Given the description of an element on the screen output the (x, y) to click on. 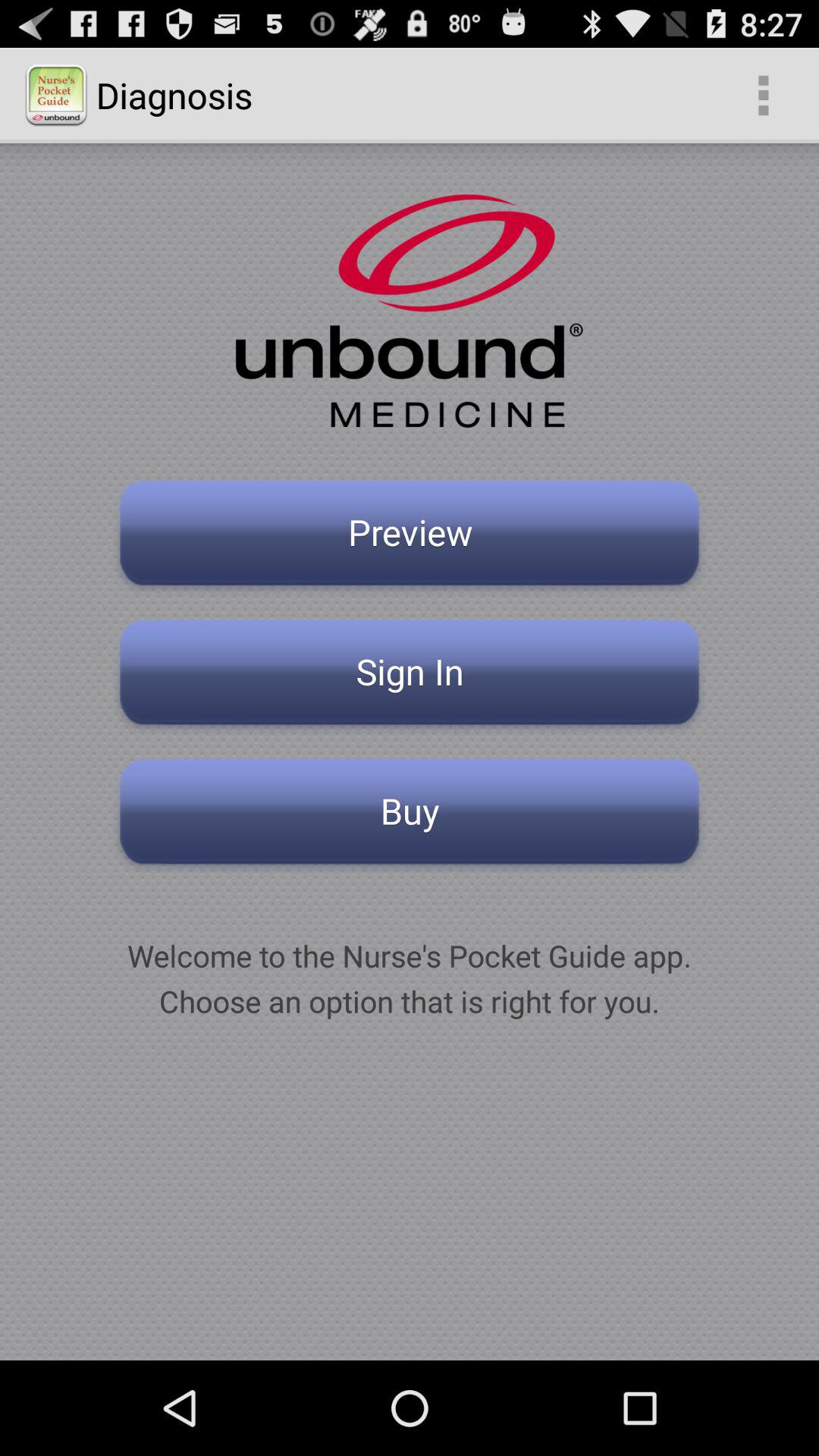
tap buy (409, 815)
